Given the description of an element on the screen output the (x, y) to click on. 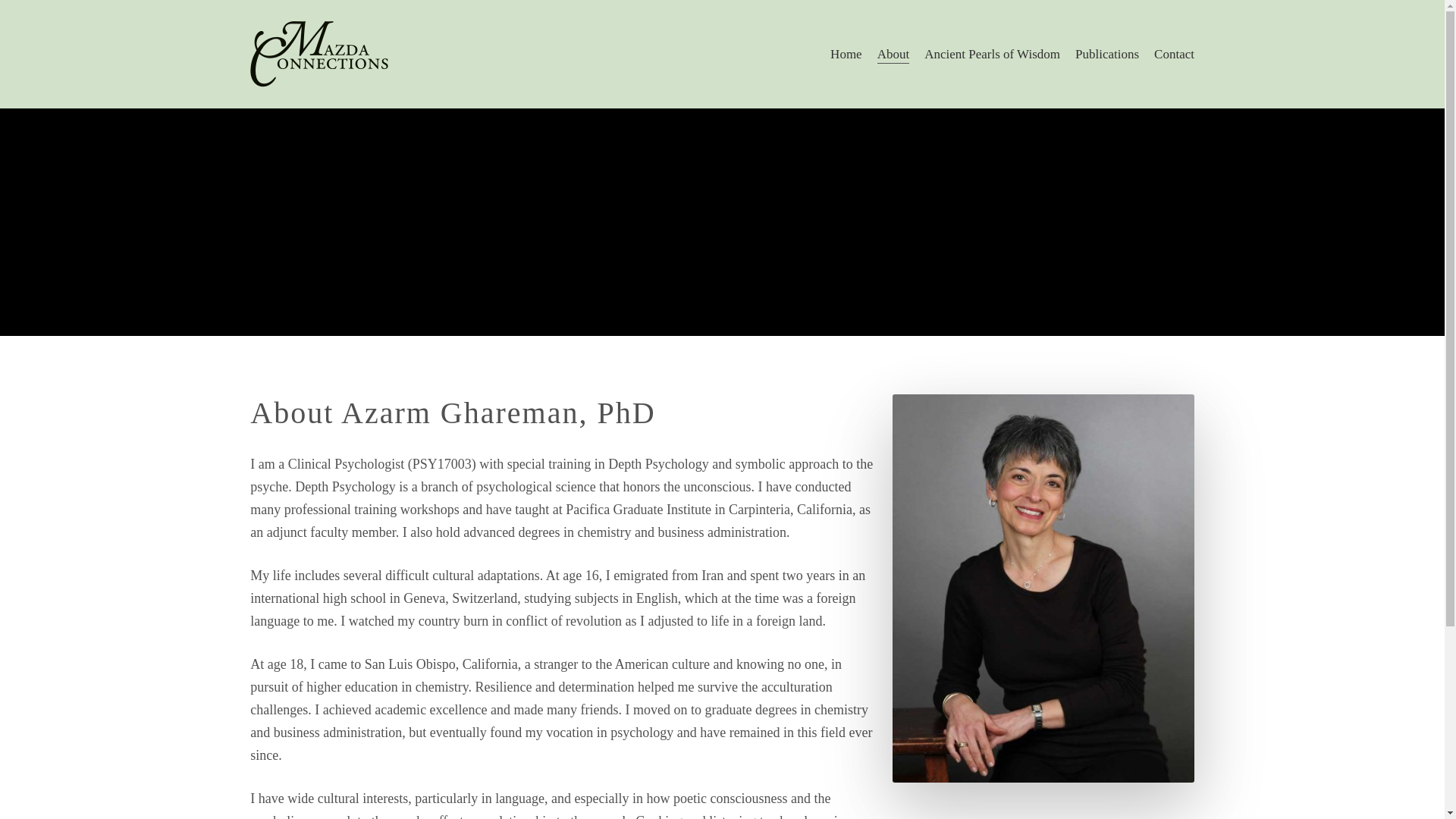
About (893, 53)
Ancient Pearls of Wisdom (991, 53)
Publications (1106, 53)
Contact (1173, 53)
Home (845, 53)
